Given the description of an element on the screen output the (x, y) to click on. 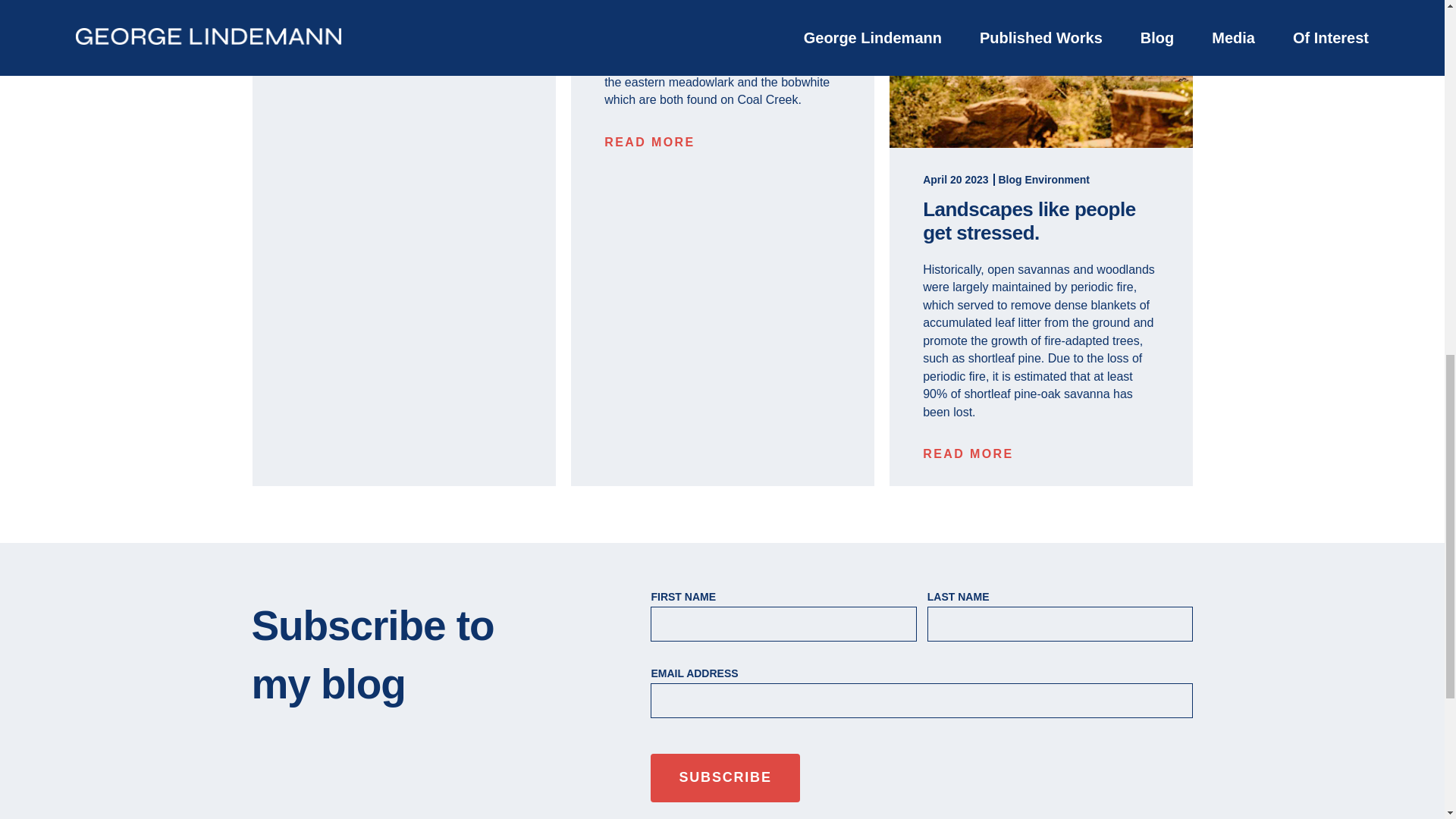
READ MORE (968, 453)
Subscribe (724, 777)
READ MORE (330, 49)
Subscribe (724, 777)
READ MORE (649, 141)
